Given the description of an element on the screen output the (x, y) to click on. 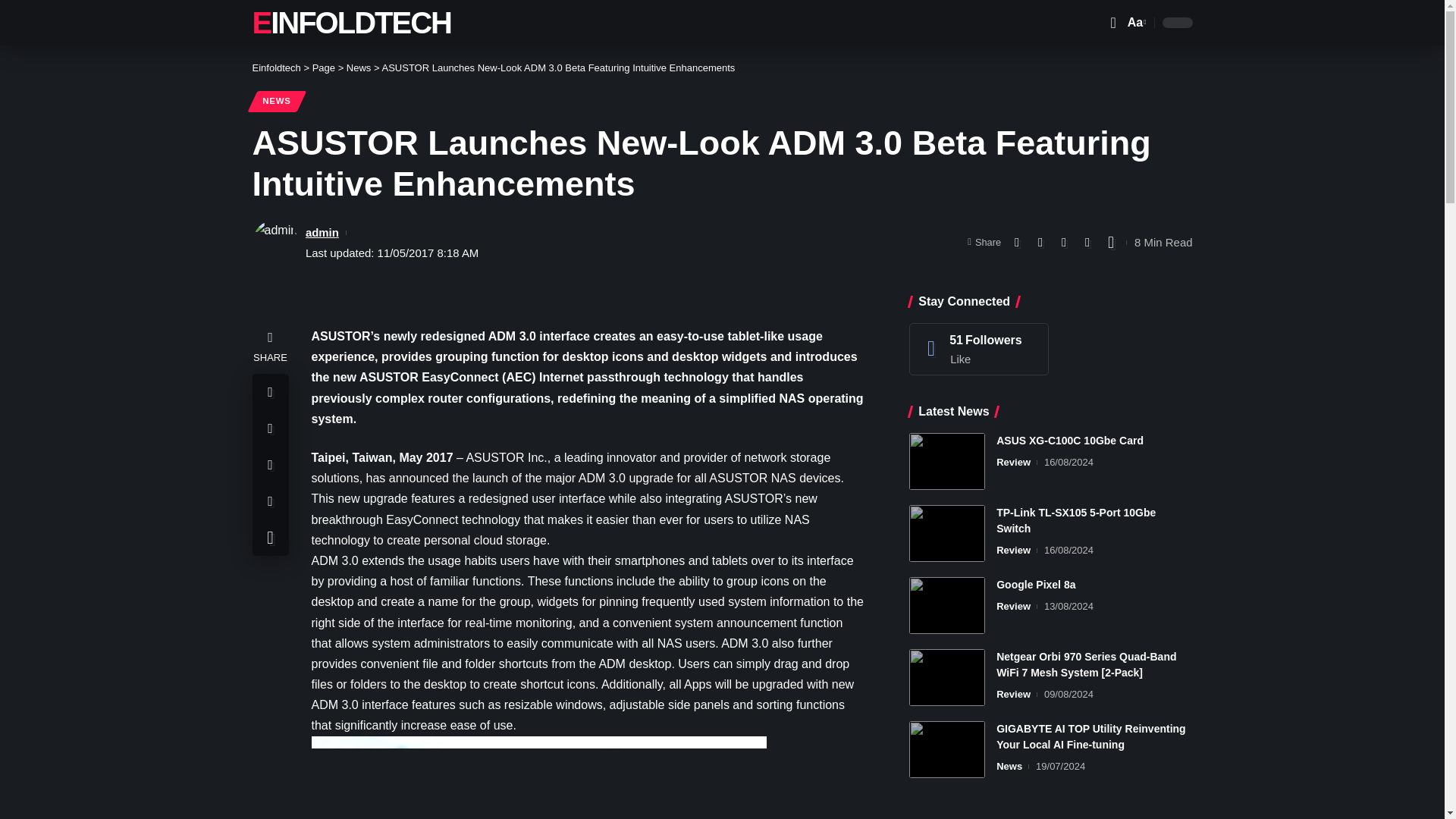
Go to the News Category archives. (358, 67)
News (358, 67)
Einfoldtech (275, 67)
Go to Einfoldtech. (275, 67)
Go to Page. (323, 67)
admin (322, 231)
Page (323, 67)
NEWS (276, 101)
TP-Link TL-SX105 5-Port 10Gbe Switch (946, 533)
Google Pixel 8a (946, 605)
